Given the description of an element on the screen output the (x, y) to click on. 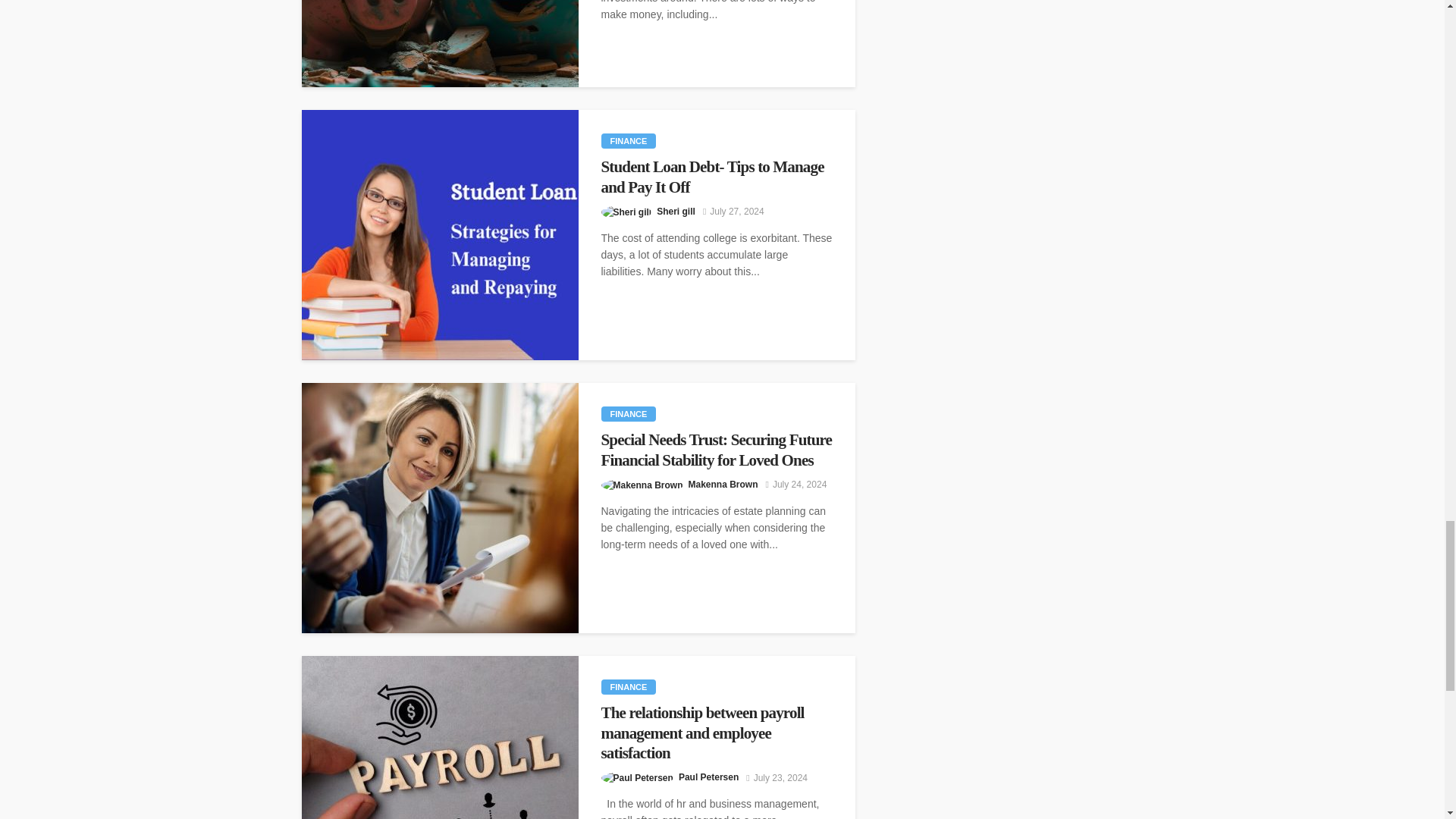
Finance (627, 140)
Makenna Brown (723, 484)
Student Loan Debt- Tips to Manage and Pay It Off (715, 177)
Student Loan Debt- Tips to Manage and Pay It Off (439, 234)
FINANCE (627, 413)
Finance (627, 413)
Student Loan Debt- Tips to Manage and Pay It Off (715, 177)
FINANCE (627, 140)
